Given the description of an element on the screen output the (x, y) to click on. 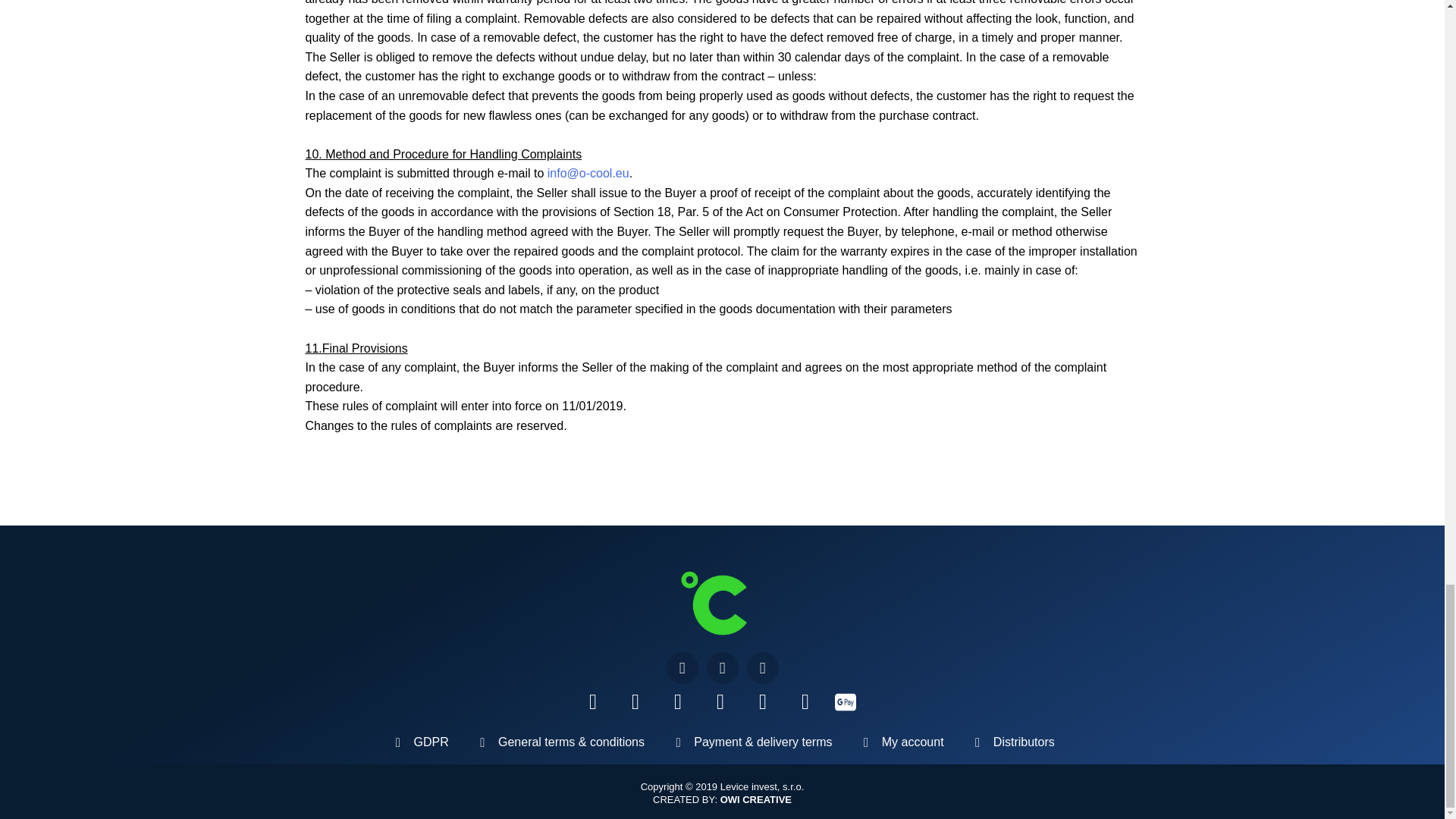
My account (901, 742)
Distributors (1011, 742)
GDPR (419, 742)
OWI CREATIVE (756, 799)
